Given the description of an element on the screen output the (x, y) to click on. 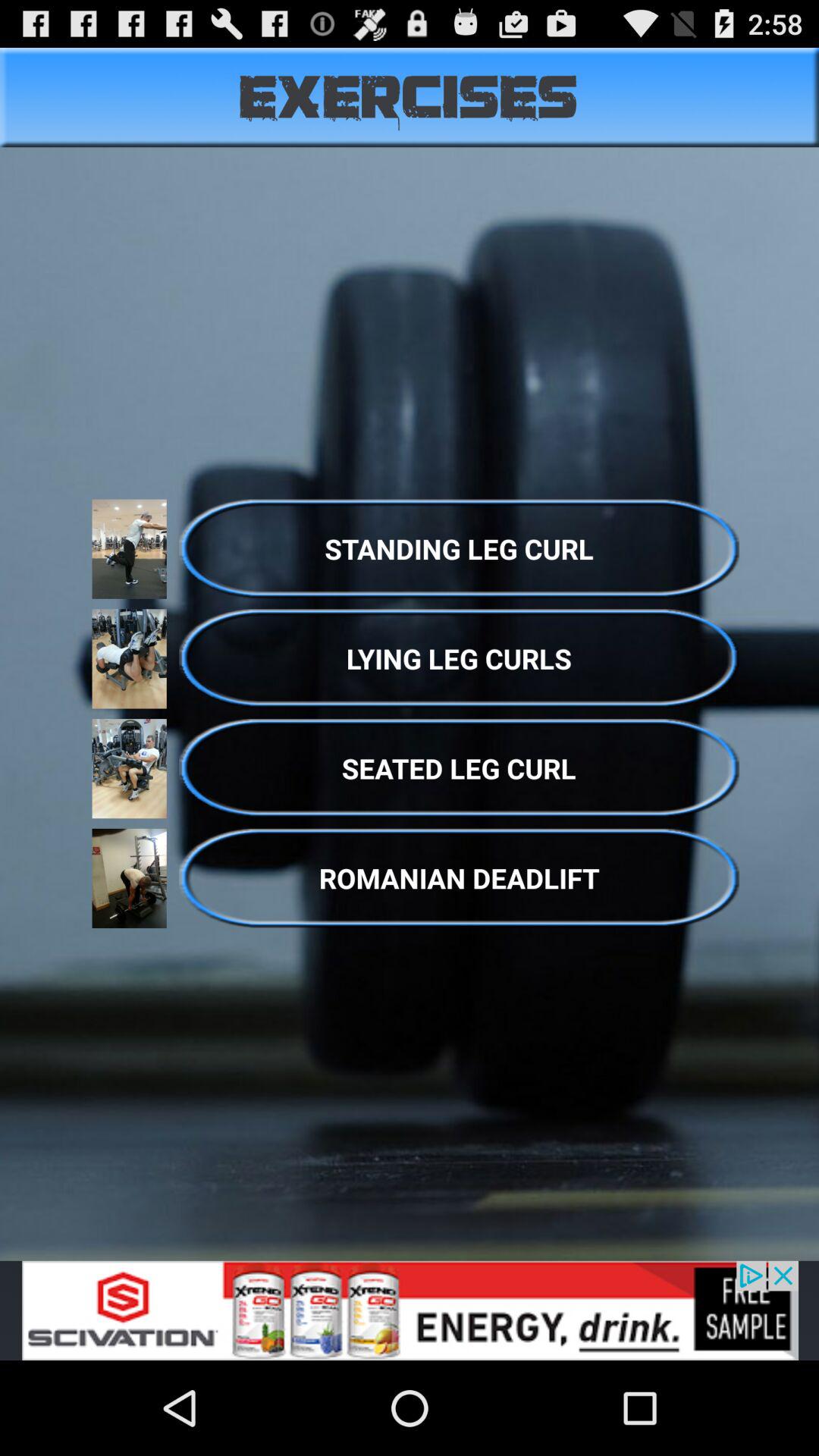
go to advertising site (409, 1310)
